Given the description of an element on the screen output the (x, y) to click on. 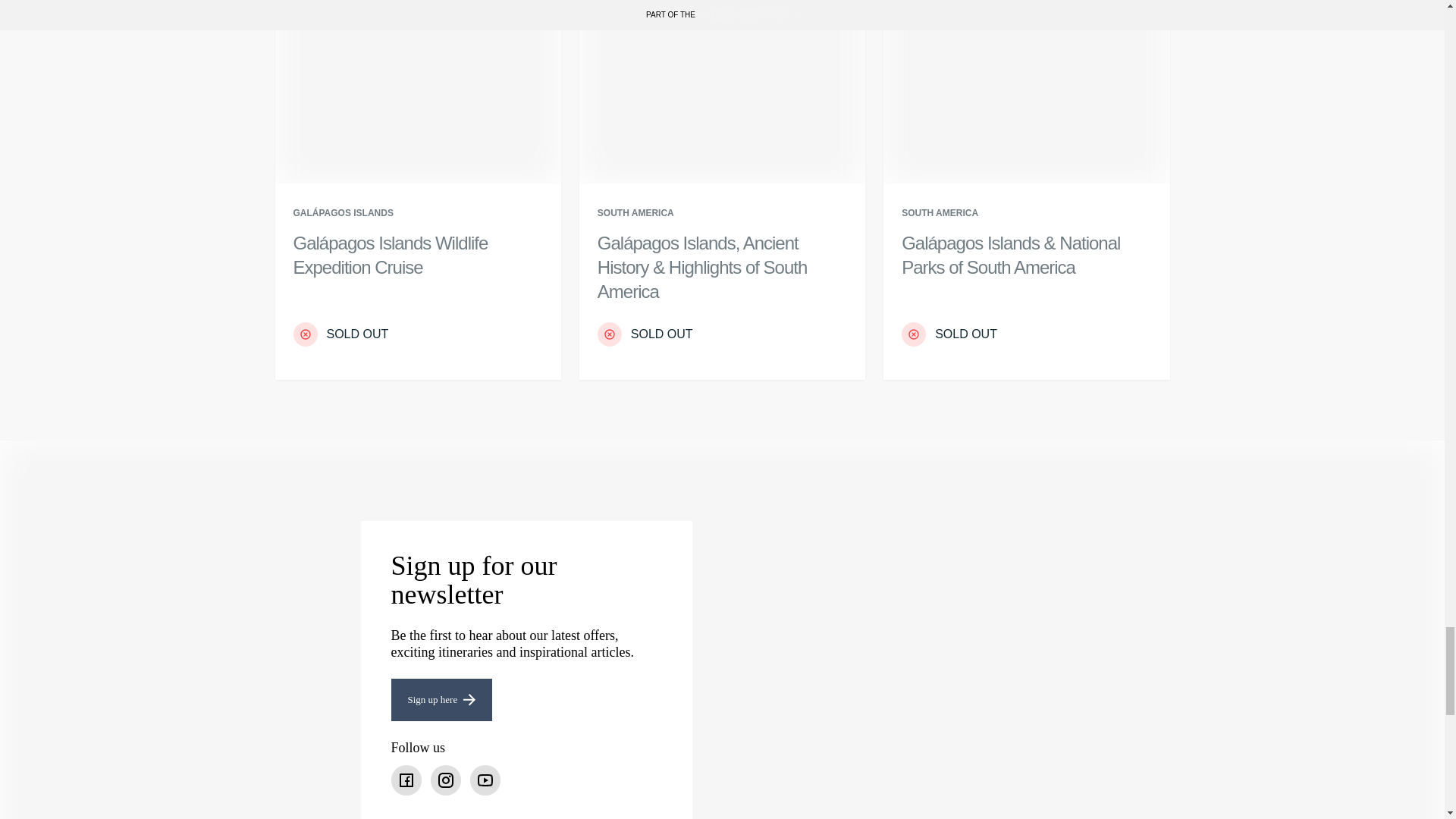
Facebook link (406, 779)
Youtube link (485, 779)
Sign up here (442, 699)
Instagram link (445, 779)
